Given the description of an element on the screen output the (x, y) to click on. 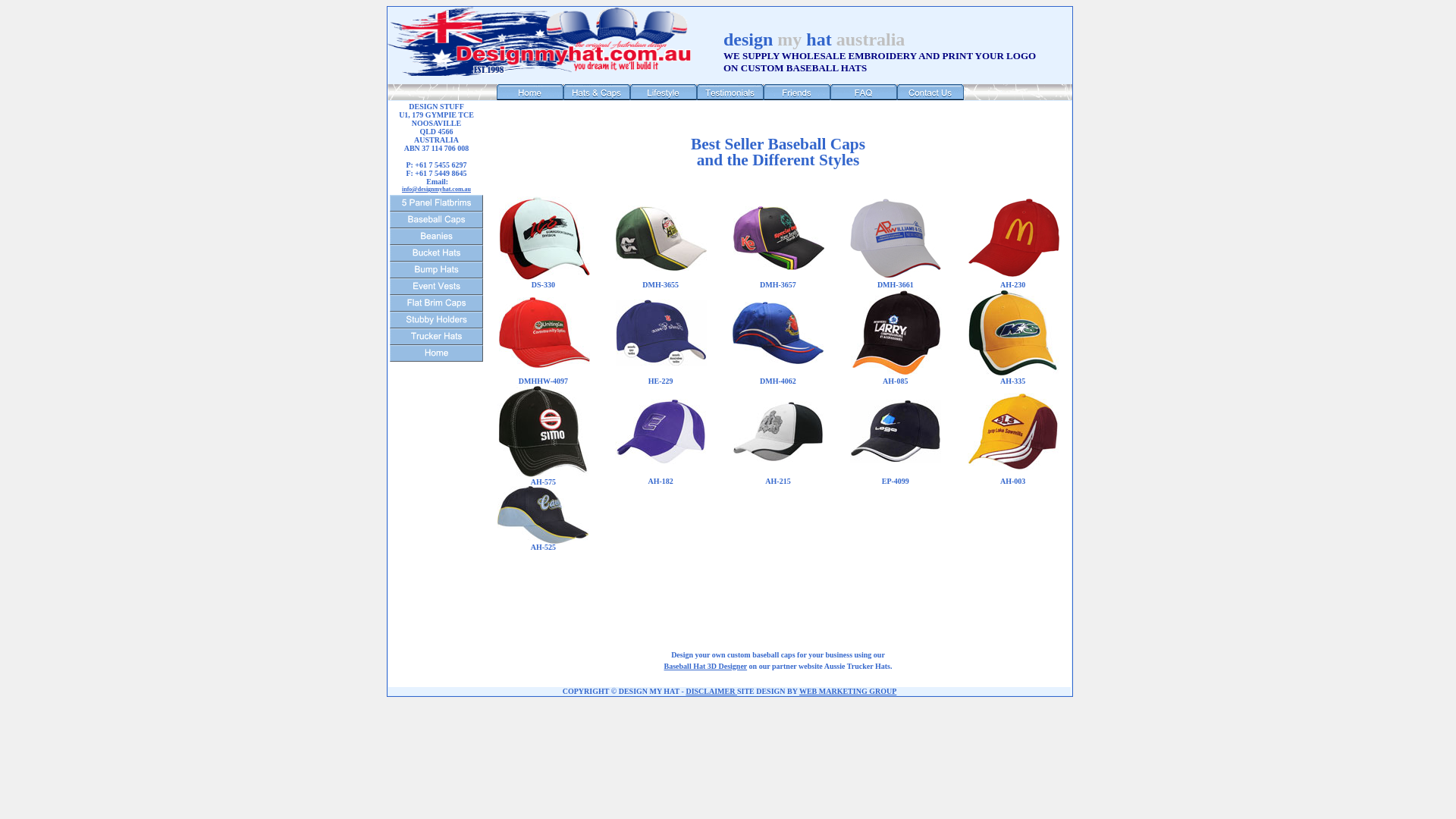
Baseball Hat 3D Designer Element type: text (705, 666)
WEB MARKETING GROUP Element type: text (847, 691)
DISCLAIMER Element type: text (711, 691)
info@designmyhat.com.au Element type: text (435, 188)
